Given the description of an element on the screen output the (x, y) to click on. 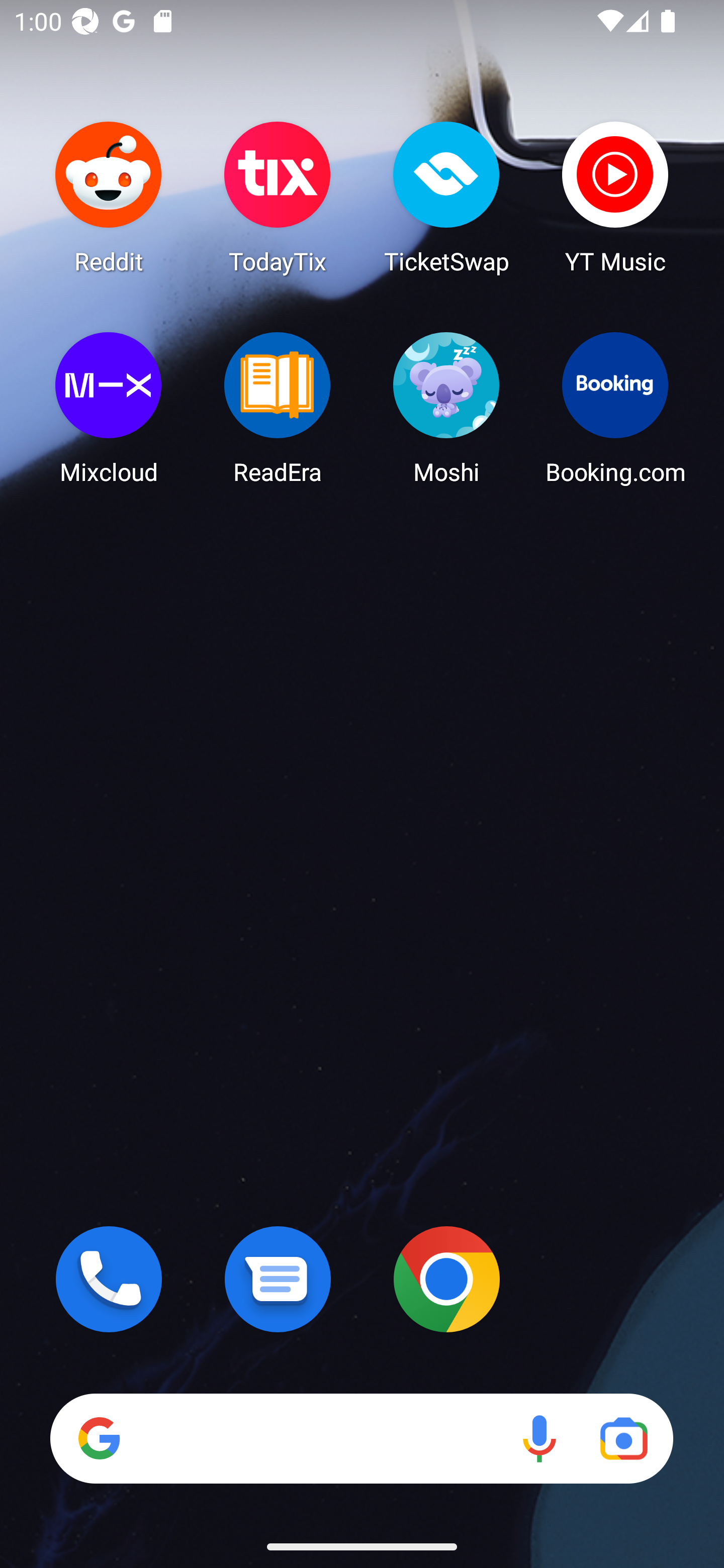
Reddit (108, 196)
TodayTix (277, 196)
TicketSwap (445, 196)
YT Music (615, 196)
Mixcloud (108, 407)
ReadEra (277, 407)
Moshi (445, 407)
Booking.com (615, 407)
Phone (108, 1279)
Messages (277, 1279)
Chrome (446, 1279)
Search Voice search Google Lens (361, 1438)
Voice search (539, 1438)
Google Lens (623, 1438)
